Given the description of an element on the screen output the (x, y) to click on. 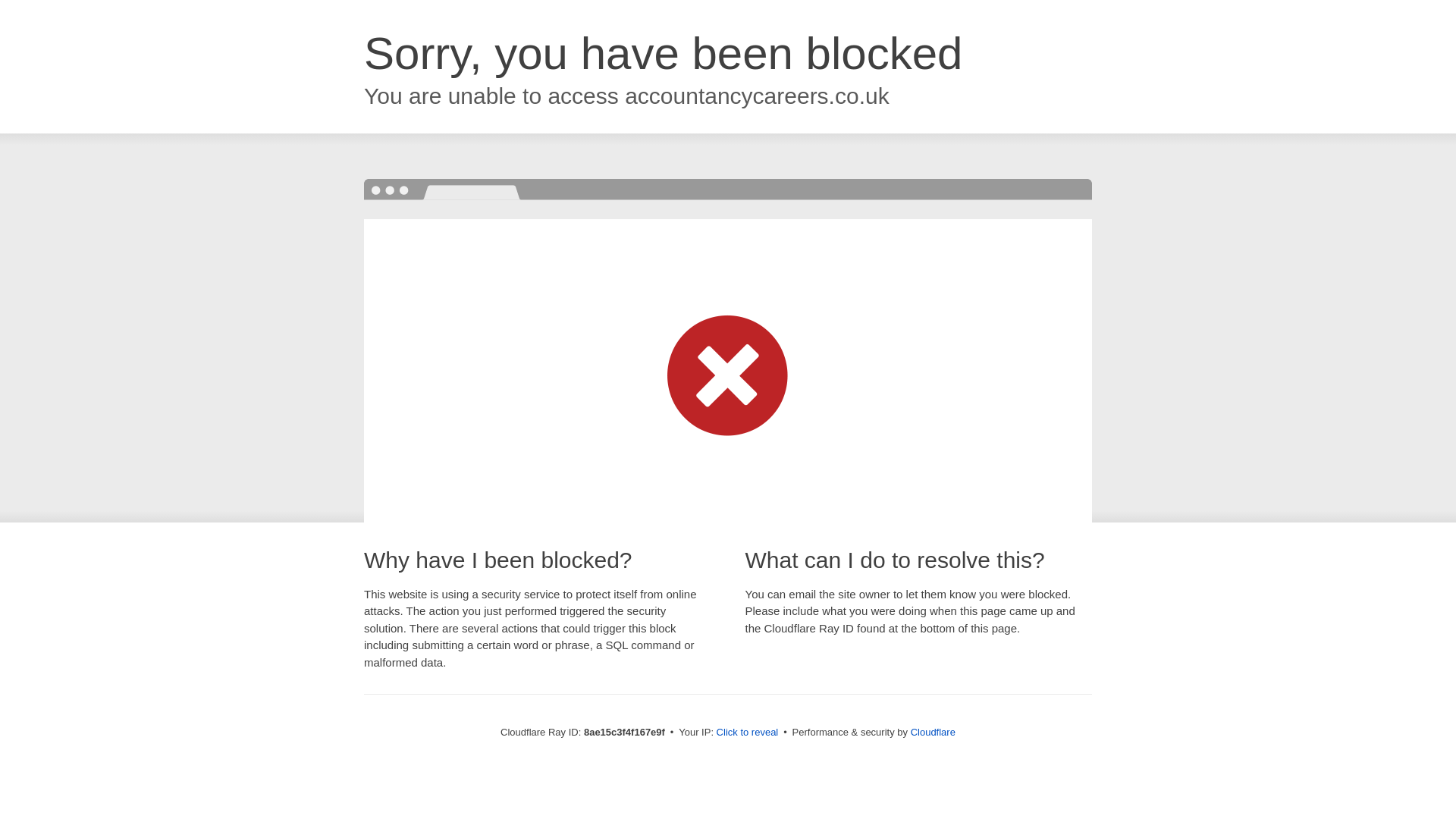
Cloudflare (933, 731)
Click to reveal (747, 732)
